Given the description of an element on the screen output the (x, y) to click on. 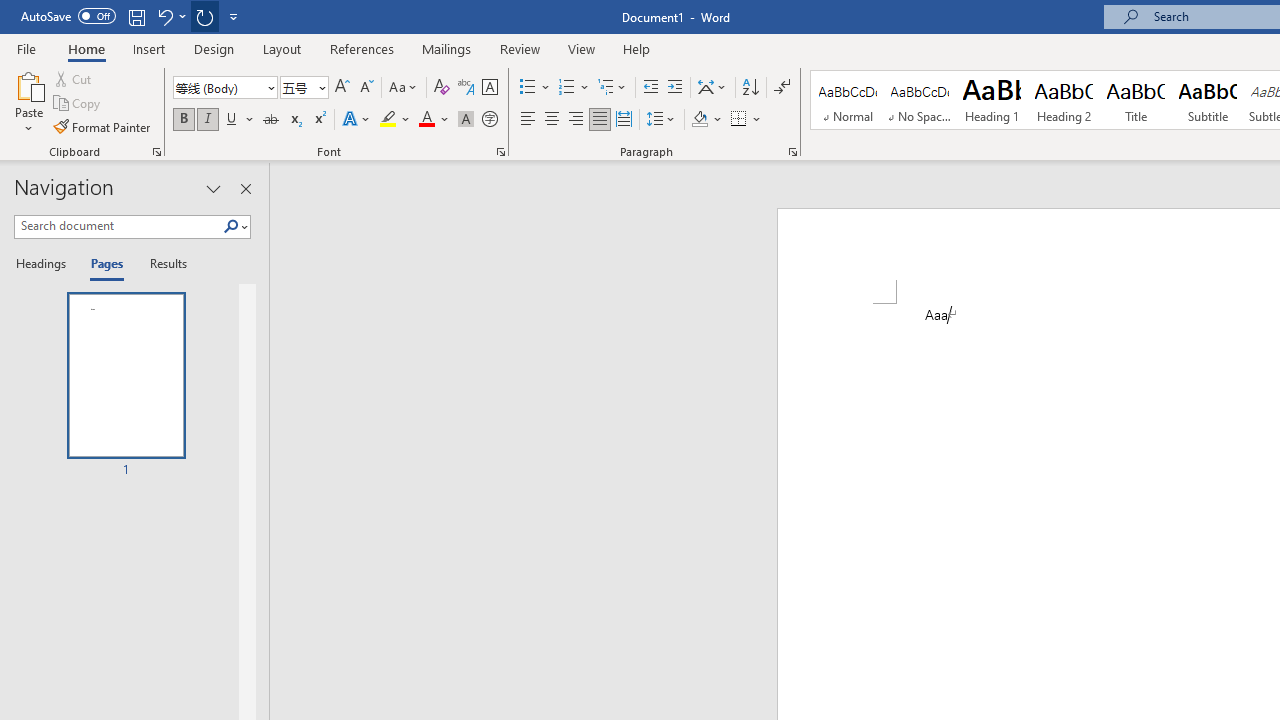
Bold (183, 119)
Italic (207, 119)
Search (235, 227)
Paragraph... (792, 151)
Bullets (527, 87)
Format Painter (103, 126)
System (10, 11)
Character Border (489, 87)
Insert (149, 48)
Align Right (575, 119)
Font Color (434, 119)
Open (320, 87)
Headings (45, 264)
Undo Style (164, 15)
Office Clipboard... (156, 151)
